Given the description of an element on the screen output the (x, y) to click on. 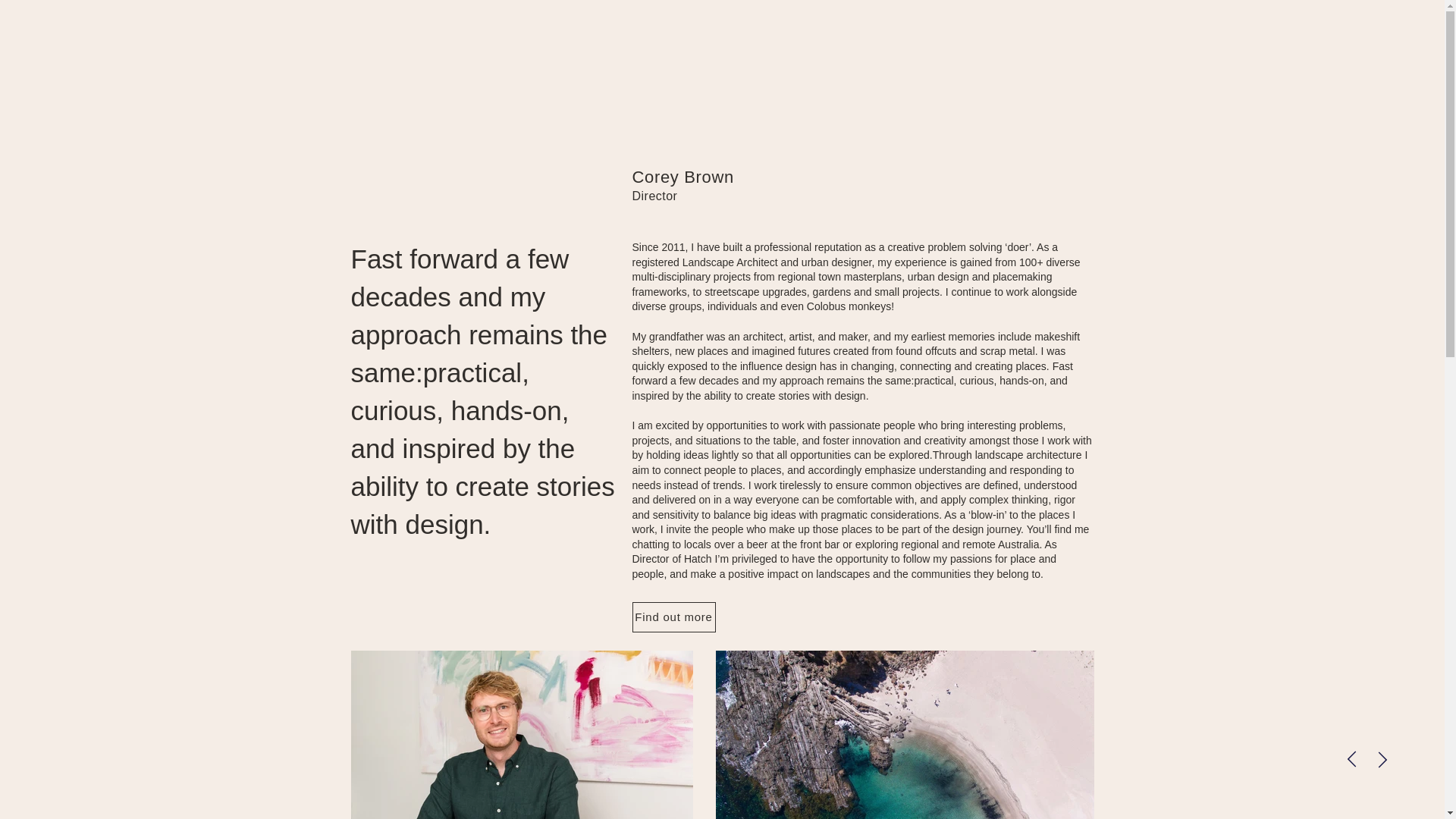
Find out more (673, 616)
